Given the description of an element on the screen output the (x, y) to click on. 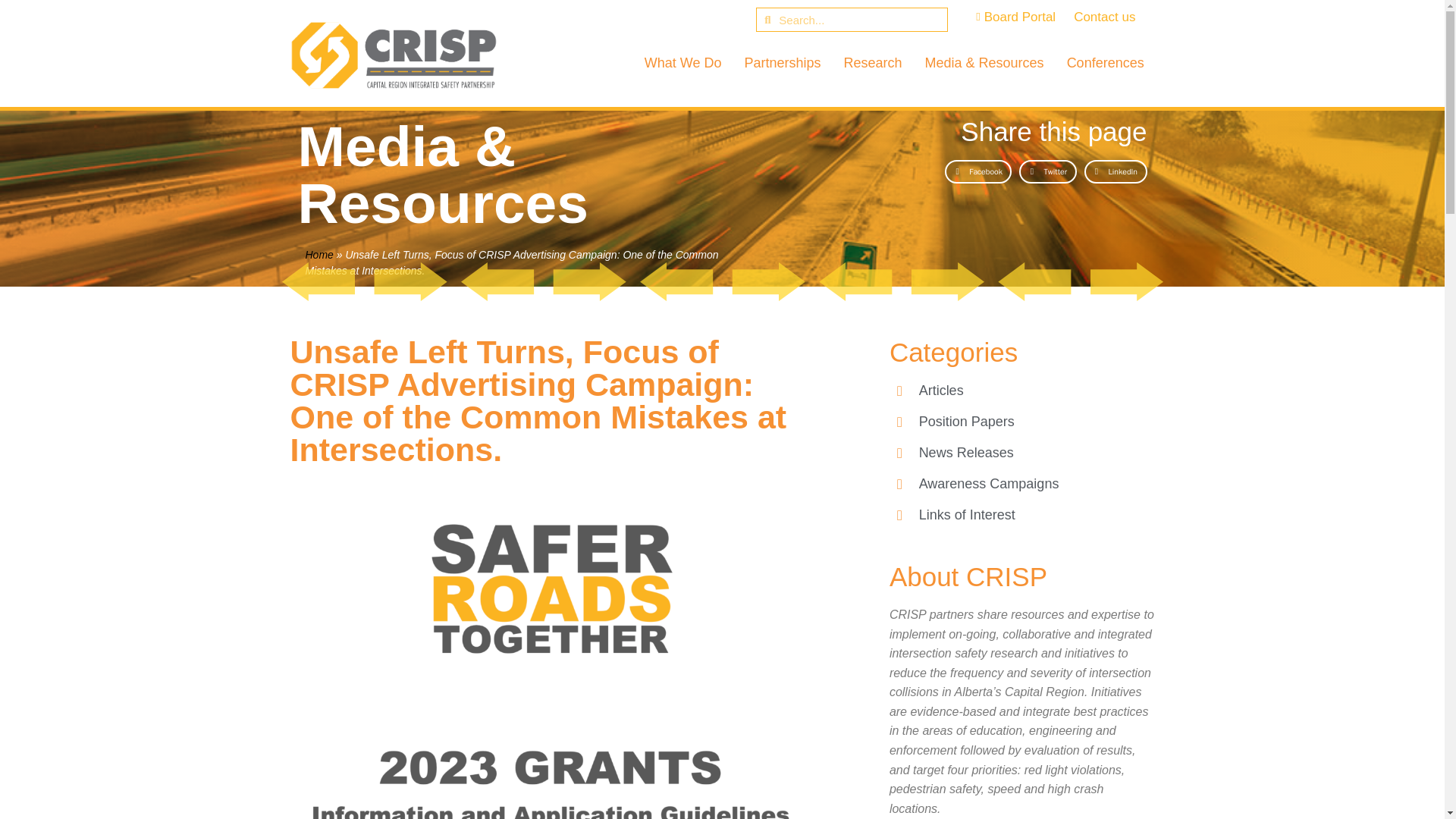
Conferences (1105, 62)
Research (871, 62)
Board Portal (1010, 17)
What We Do (683, 62)
Contact us (1104, 17)
Partnerships (782, 62)
